Given the description of an element on the screen output the (x, y) to click on. 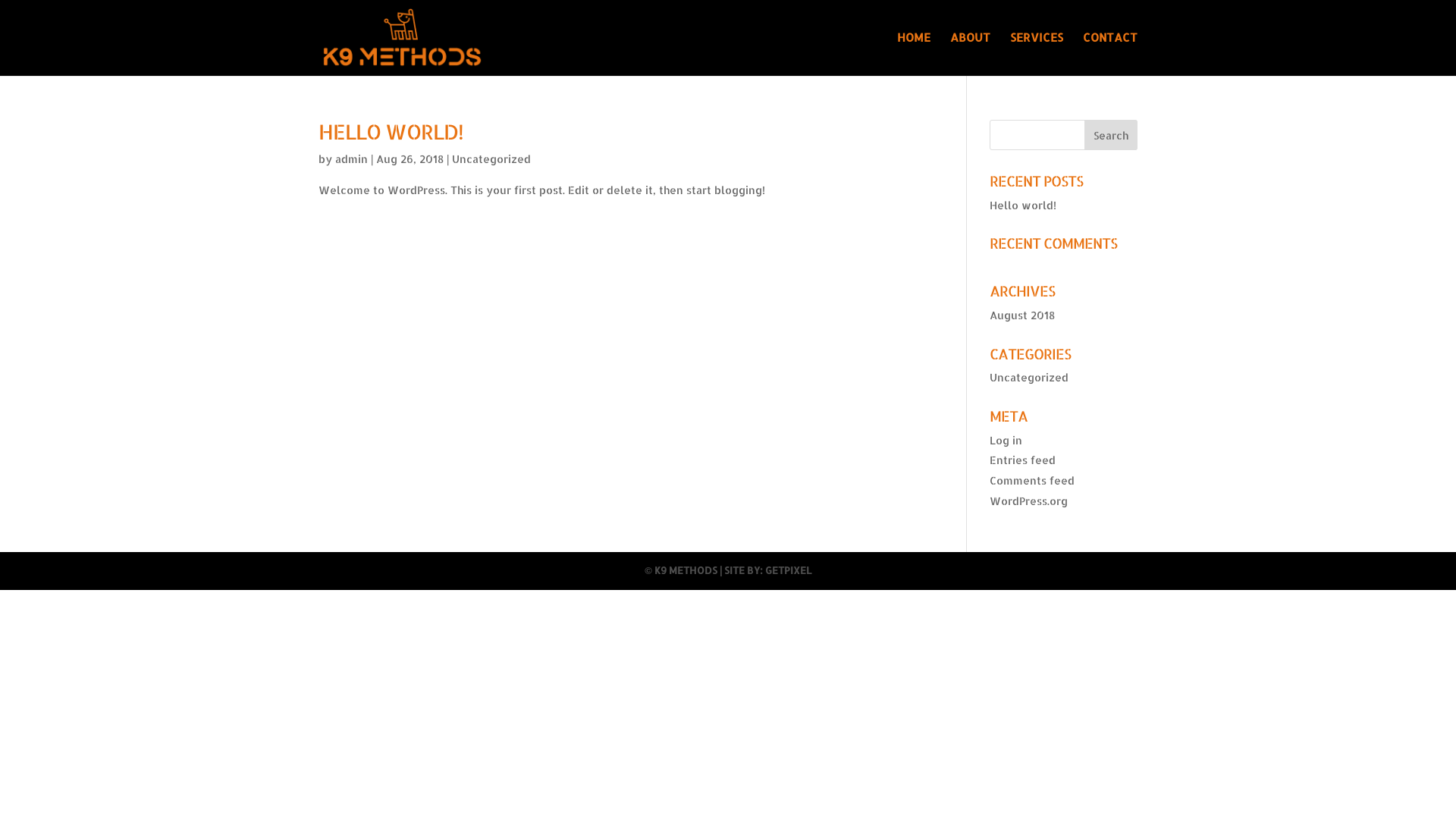
Search Element type: text (1110, 134)
CONTACT Element type: text (1109, 53)
Uncategorized Element type: text (1028, 376)
August 2018 Element type: text (1021, 314)
admin Element type: text (351, 158)
ABOUT Element type: text (970, 53)
Entries feed Element type: text (1022, 459)
SITE BY: GETPIXEL Element type: text (767, 570)
WordPress.org Element type: text (1028, 500)
HELLO WORLD! Element type: text (390, 131)
SERVICES Element type: text (1036, 53)
Uncategorized Element type: text (490, 158)
Log in Element type: text (1005, 439)
Comments feed Element type: text (1031, 479)
Hello world! Element type: text (1022, 204)
HOME Element type: text (913, 53)
